Given the description of an element on the screen output the (x, y) to click on. 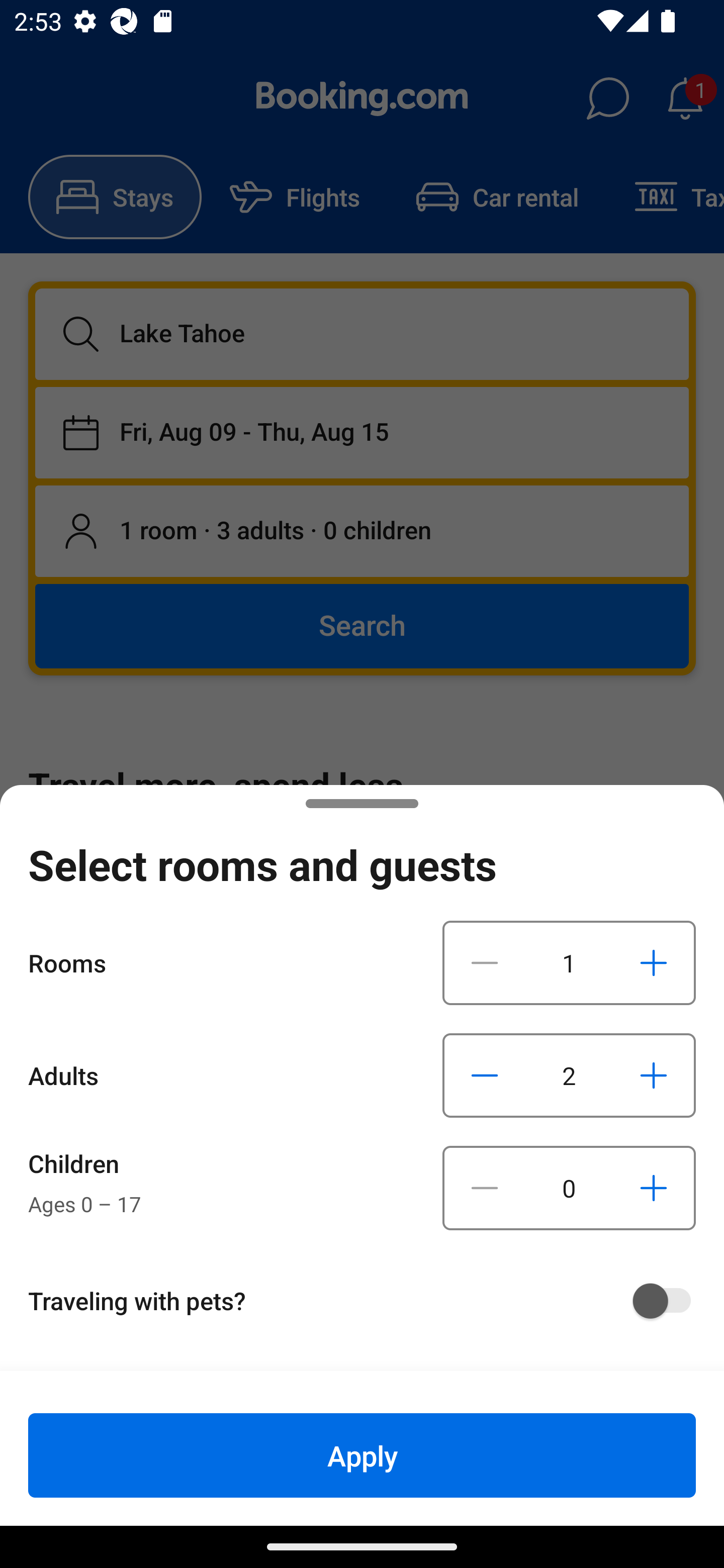
Decrease (484, 962)
Increase (653, 962)
Decrease (484, 1075)
Increase (653, 1075)
Decrease (484, 1188)
Increase (653, 1188)
Traveling with pets? (369, 1300)
Apply (361, 1454)
